Given the description of an element on the screen output the (x, y) to click on. 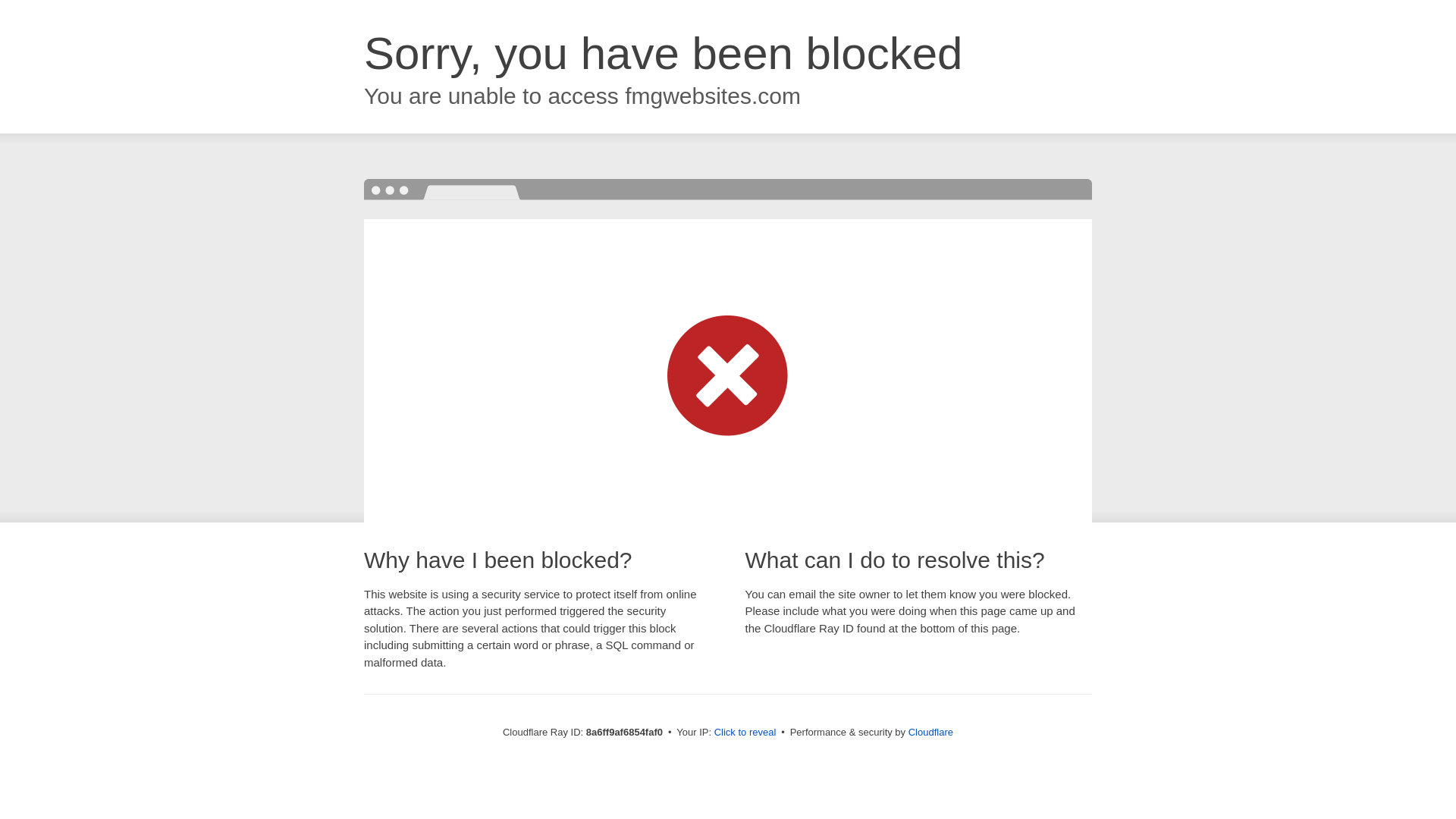
Click to reveal (745, 732)
Cloudflare (930, 731)
